Given the description of an element on the screen output the (x, y) to click on. 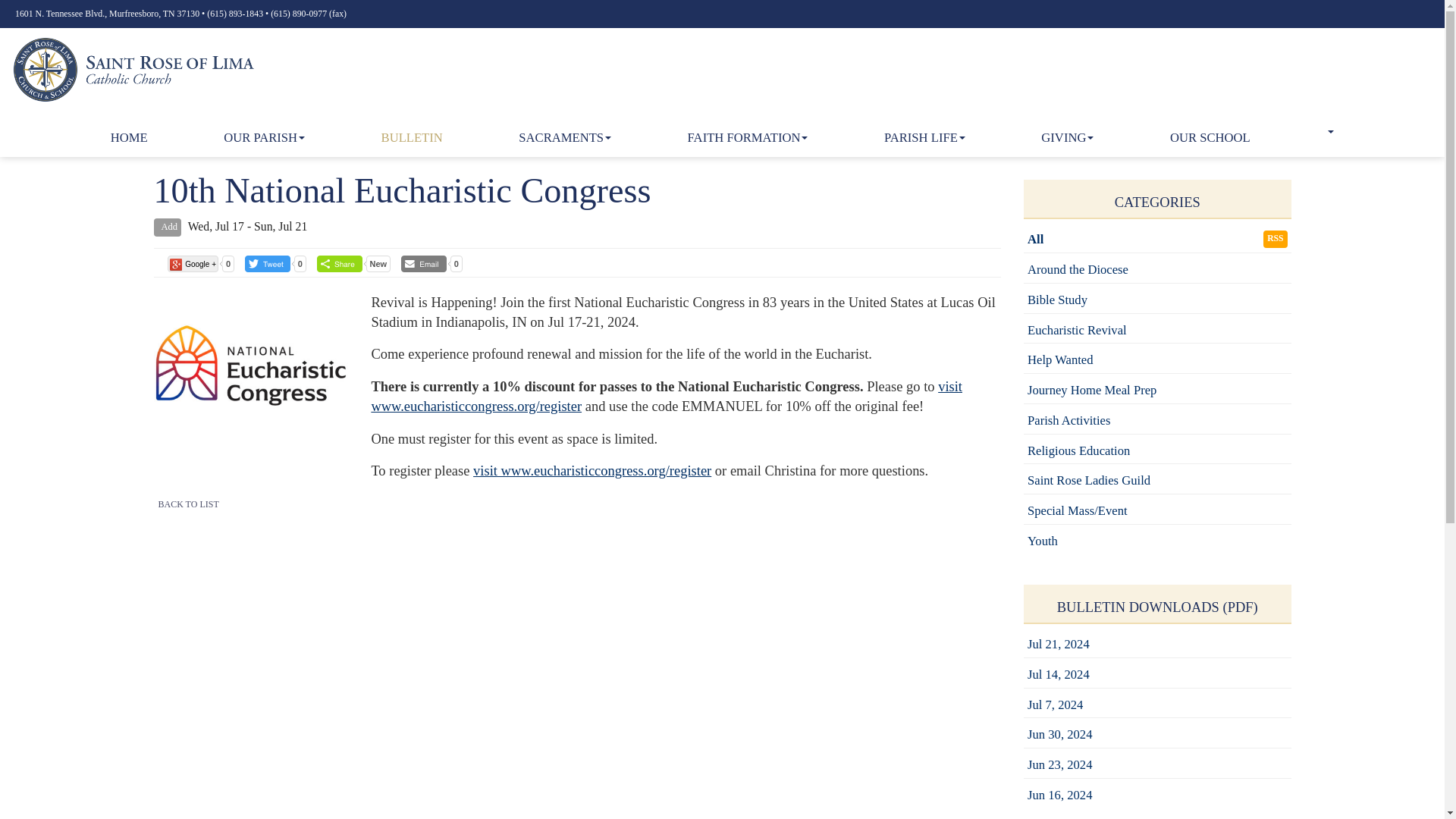
FAITH FORMATION (747, 137)
SACRAMENTS (564, 137)
HOME (129, 137)
BULLETIN (411, 137)
OUR PARISH (264, 137)
